Given the description of an element on the screen output the (x, y) to click on. 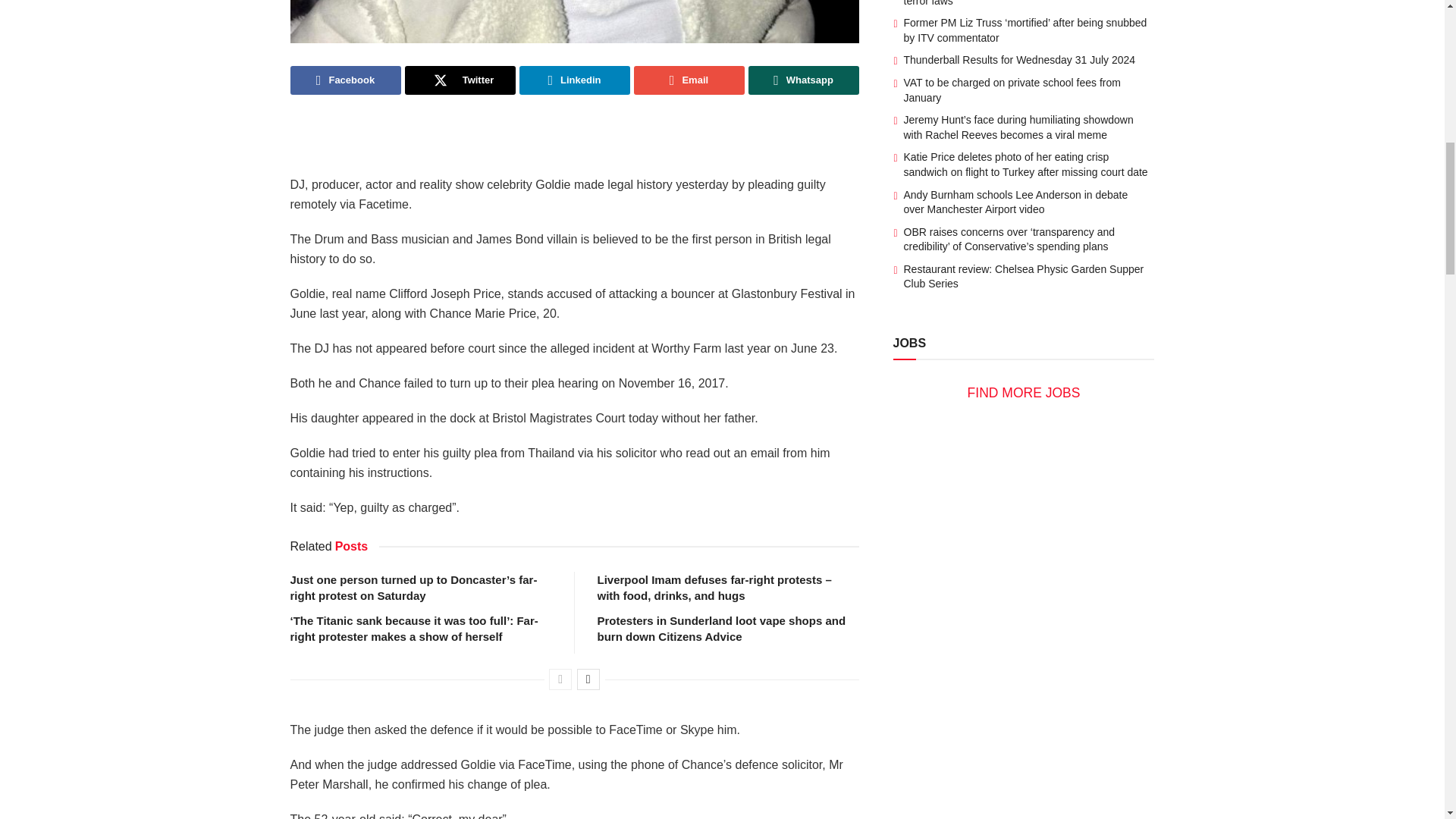
Previous (560, 679)
Next (587, 679)
